Given the description of an element on the screen output the (x, y) to click on. 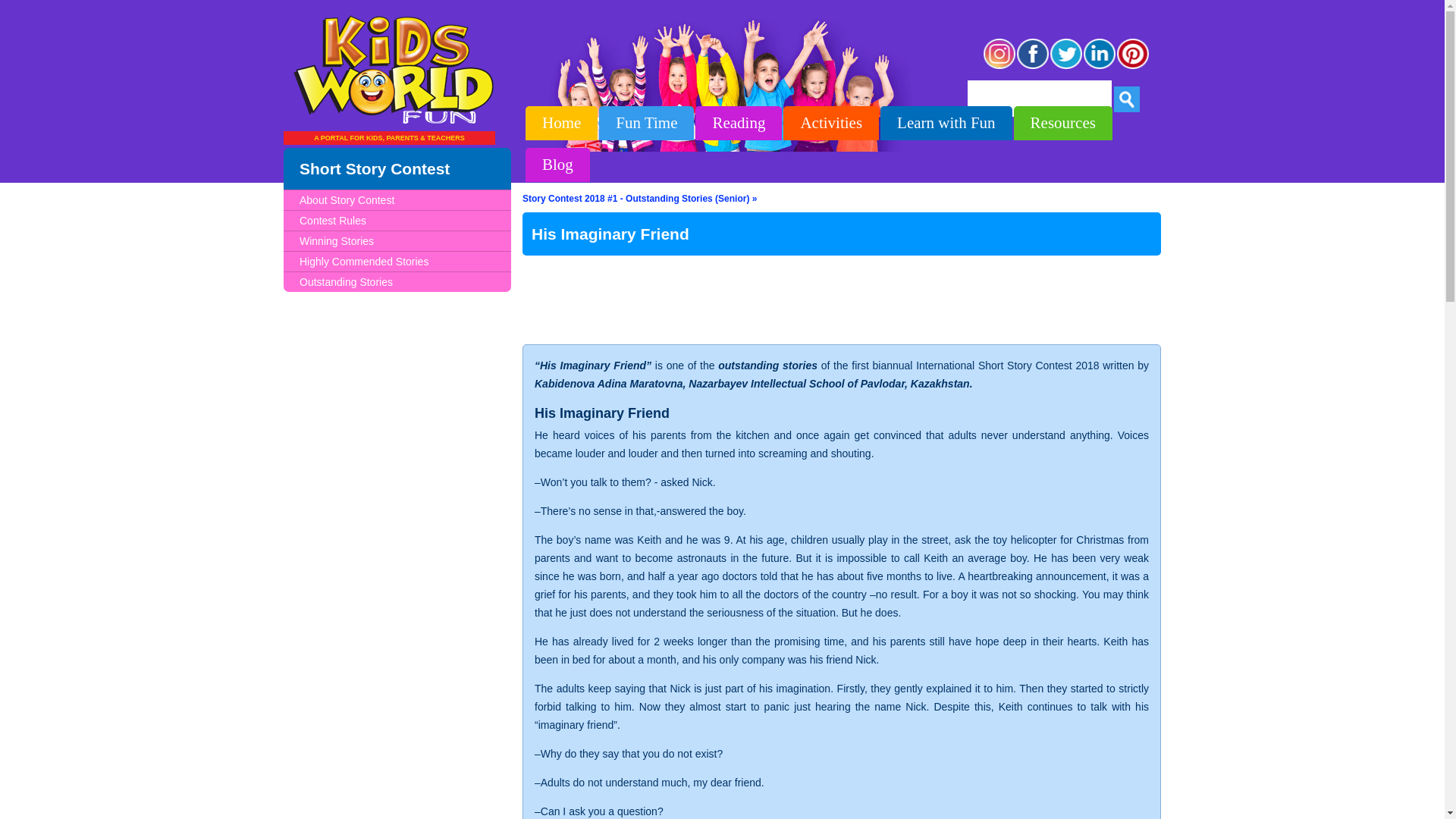
Reading (738, 123)
Follow Us On Facebook (1032, 66)
Follow Us On Twitter (1066, 66)
Follow Us On Instagram (999, 66)
Home (560, 123)
Home (560, 123)
Follow Us On Pinterest (1133, 66)
Search (1126, 99)
Search (1126, 99)
Fun Time (646, 123)
Activities (831, 123)
Fun Time (646, 123)
Learn with Fun (945, 123)
Follow Us On LinkedIn (1099, 66)
